Given the description of an element on the screen output the (x, y) to click on. 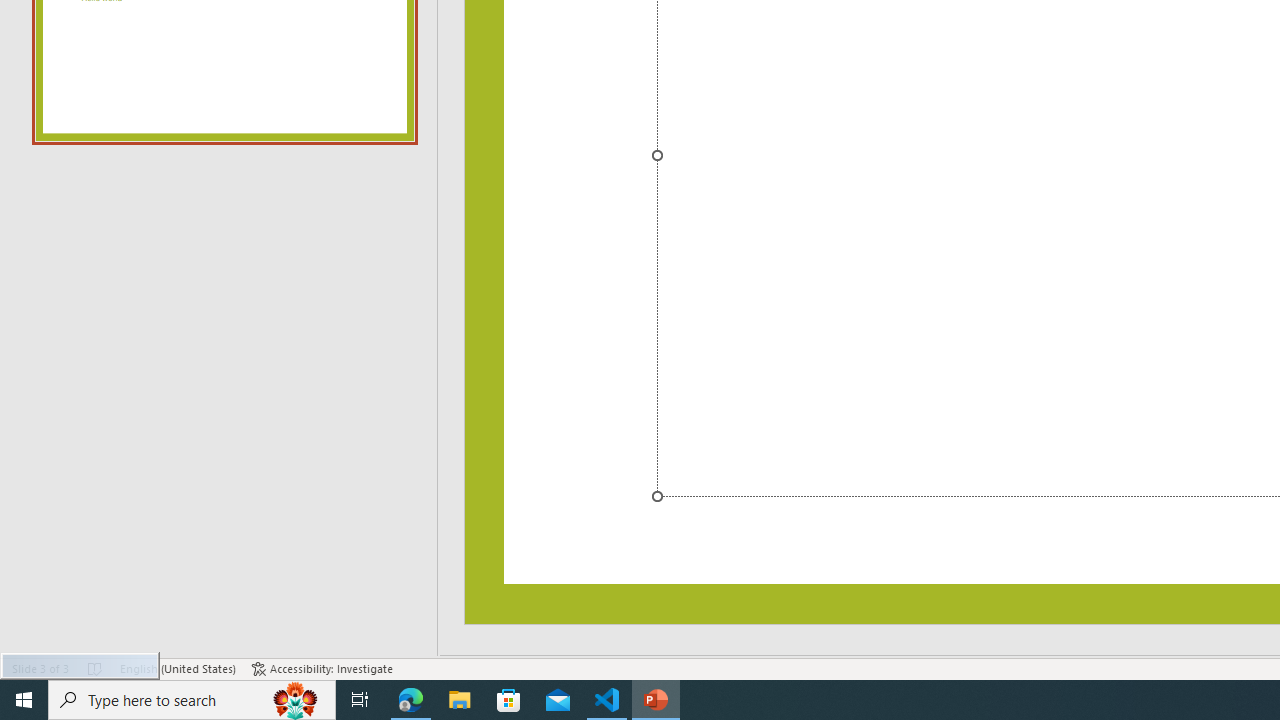
Accessibility Checker Accessibility: Investigate (322, 668)
Spell Check No Errors (95, 668)
